Given the description of an element on the screen output the (x, y) to click on. 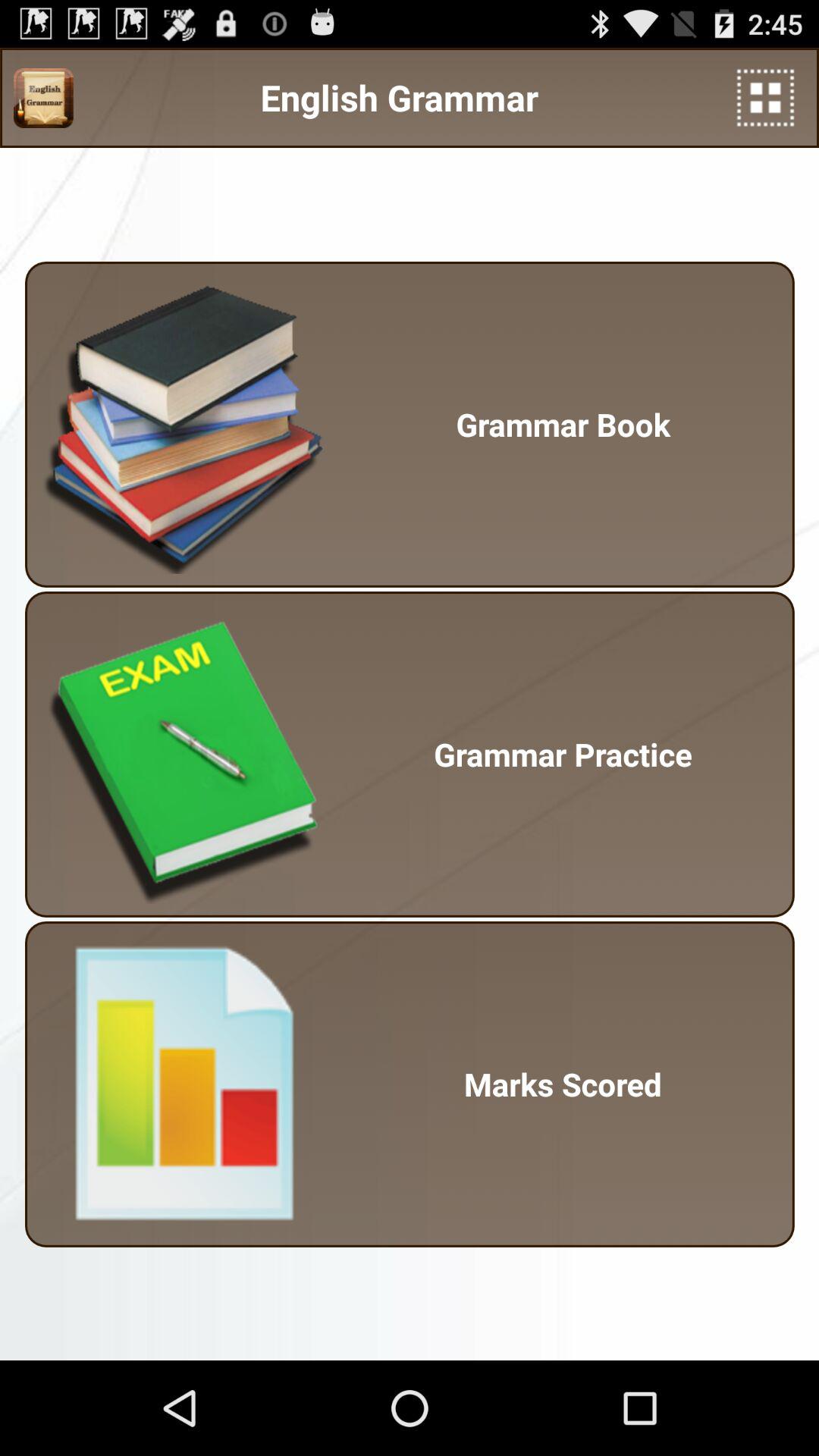
choose the icon next to english grammar icon (765, 97)
